Given the description of an element on the screen output the (x, y) to click on. 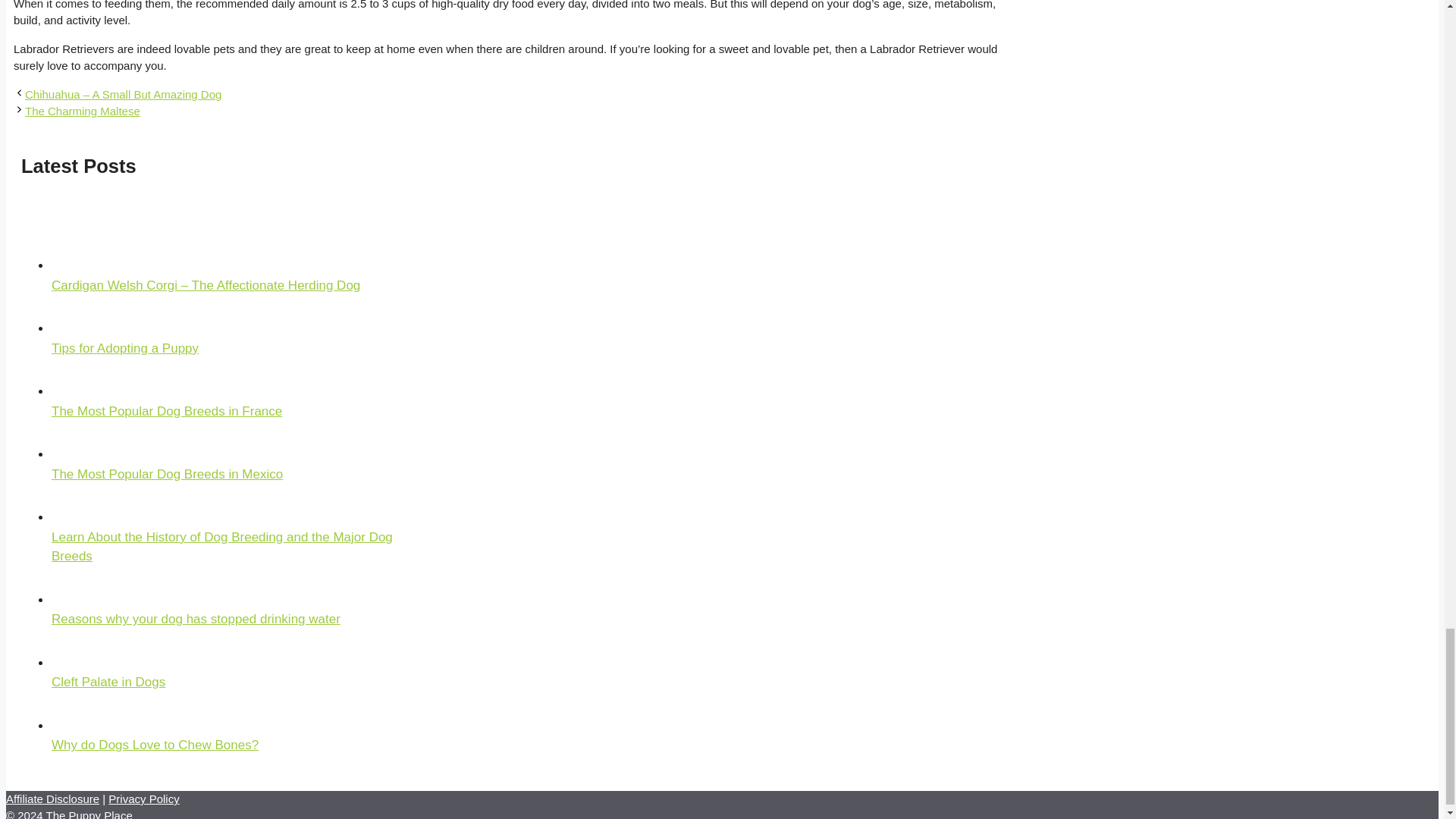
The Most Popular Dog Breeds in France (166, 411)
The Most Popular Dog Breeds in Mexico (166, 473)
The Charming Maltese (81, 110)
Affiliate Disclosure (52, 798)
Cleft Palate in Dogs (107, 681)
Privacy Policy (143, 798)
Why do Dogs Love to Chew Bones? (154, 744)
Tips for Adopting a Puppy (124, 348)
Reasons why your dog has stopped drinking water (195, 618)
